Given the description of an element on the screen output the (x, y) to click on. 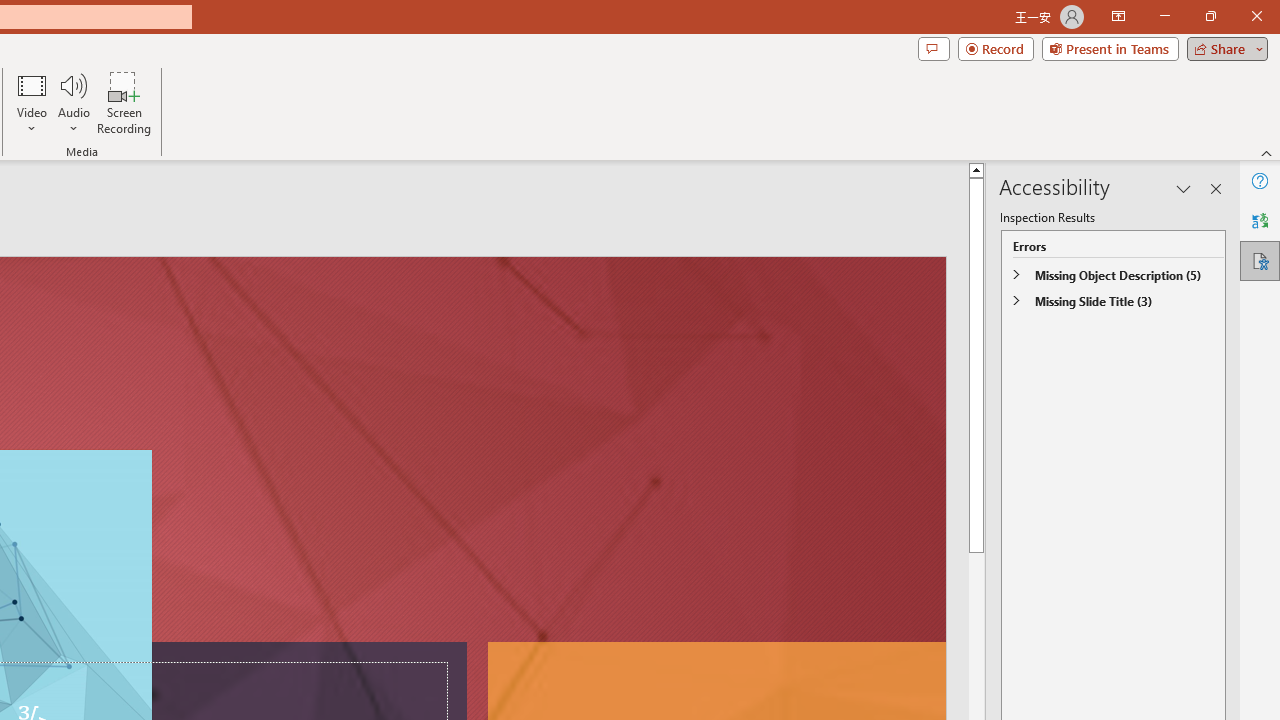
Ribbon Display Options (1118, 16)
Restore Down (1210, 16)
Audio (73, 102)
Line up (978, 169)
Minimize (1164, 16)
Translator (1260, 220)
Accessibility (1260, 260)
Close pane (1215, 188)
Close (1256, 16)
Collapse the Ribbon (1267, 152)
Task Pane Options (1183, 188)
Screen Recording... (123, 102)
